Given the description of an element on the screen output the (x, y) to click on. 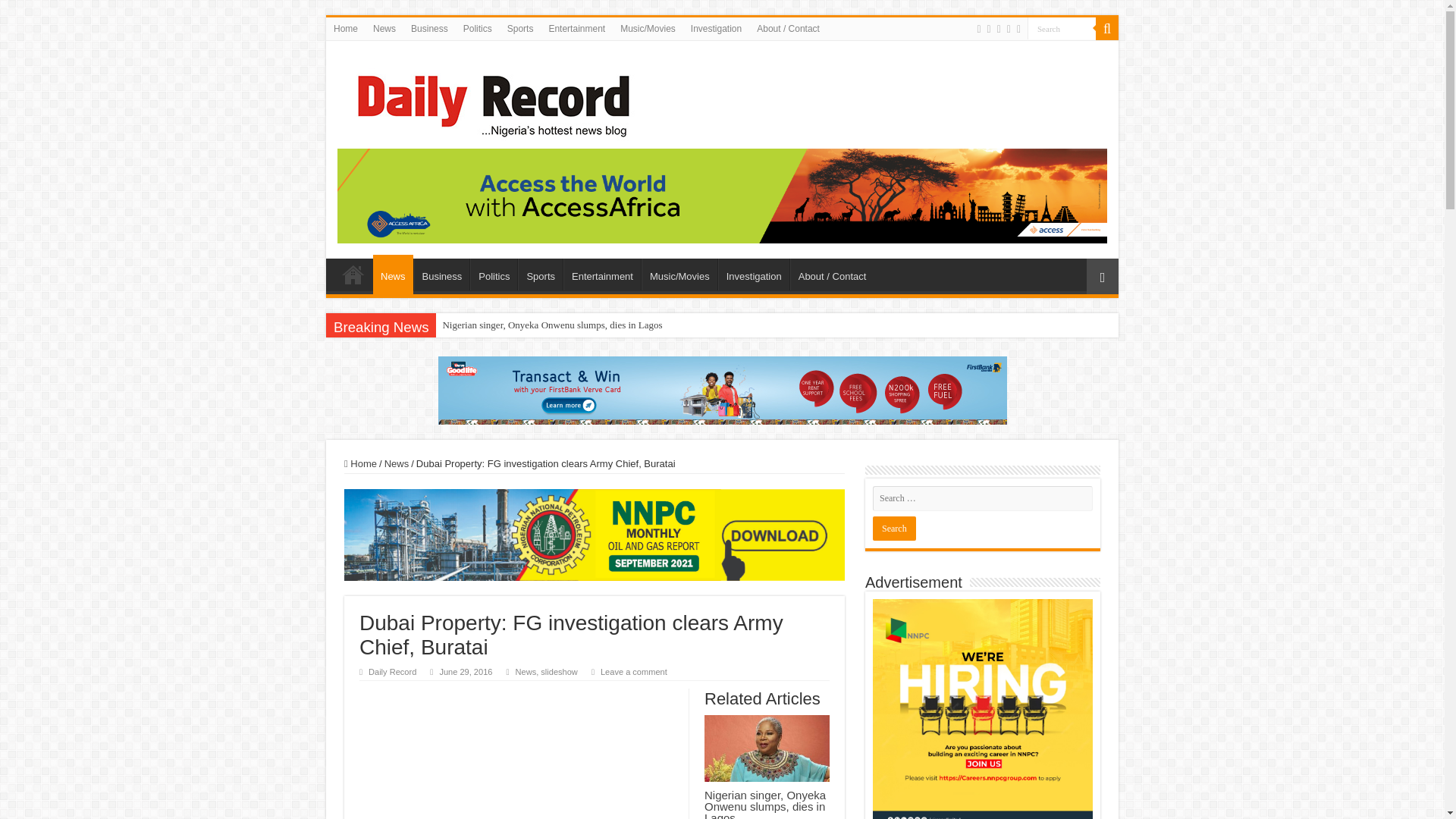
Sports (540, 274)
Home (345, 28)
Search (1061, 28)
Politics (493, 274)
Politics (477, 28)
Access Bank (721, 194)
Entertainment (601, 274)
Search (893, 528)
Search (1107, 28)
Sports (520, 28)
Business (441, 274)
News (384, 28)
Search (893, 528)
Search (1061, 28)
Investigation (715, 28)
